Given the description of an element on the screen output the (x, y) to click on. 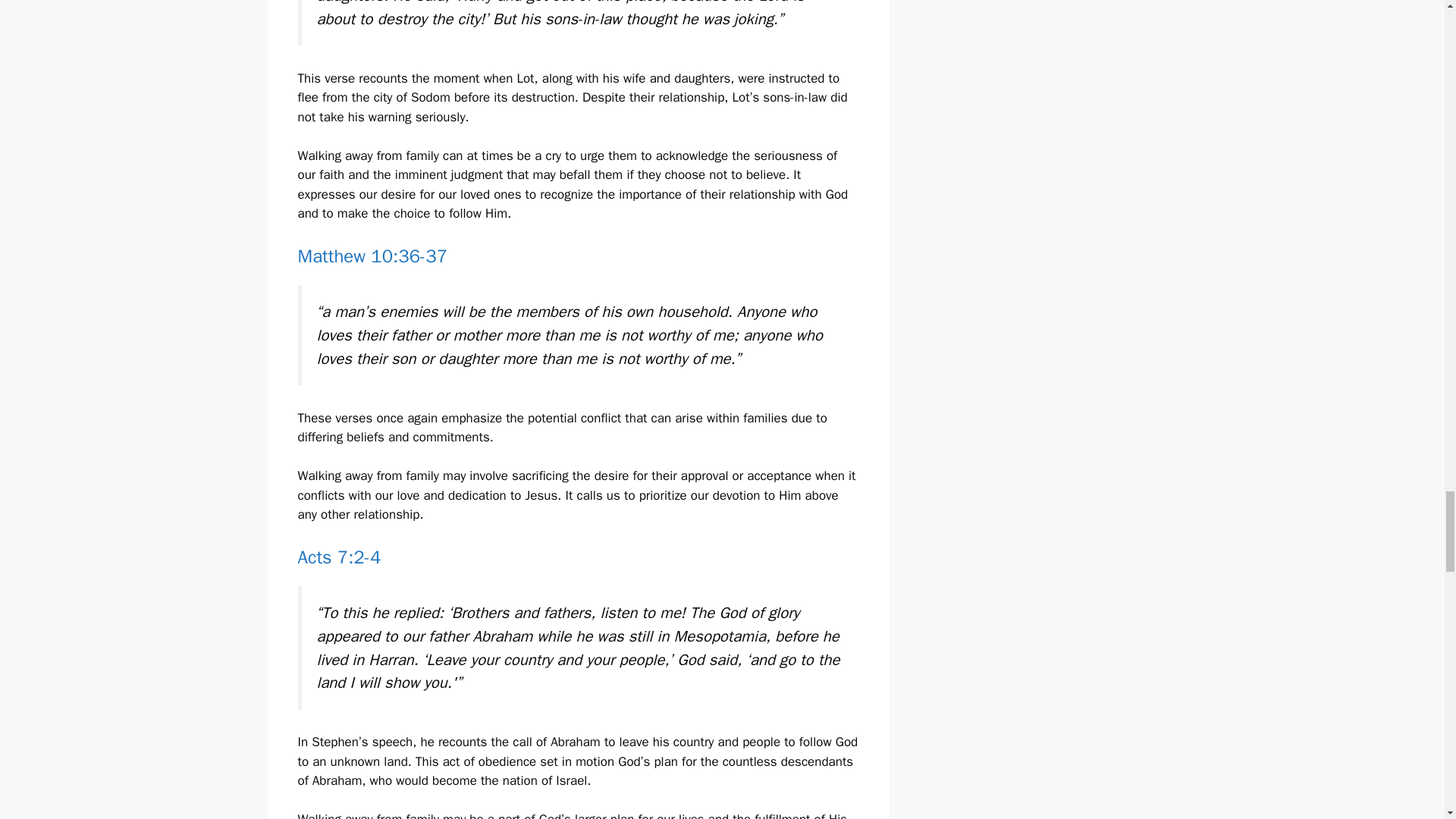
Acts 7:2-4 (338, 557)
Matthew 10:36-37 (371, 255)
